Given the description of an element on the screen output the (x, y) to click on. 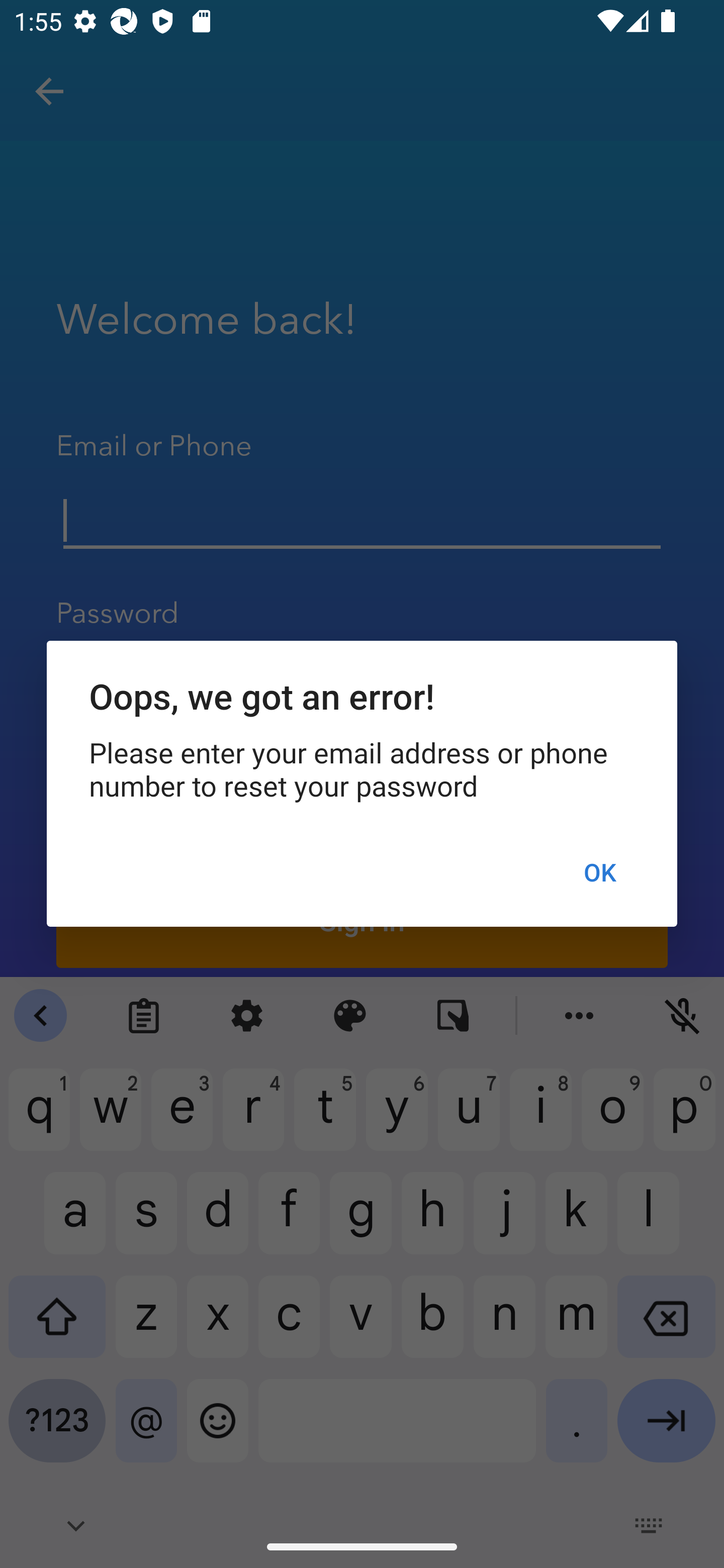
OK (599, 872)
